Given the description of an element on the screen output the (x, y) to click on. 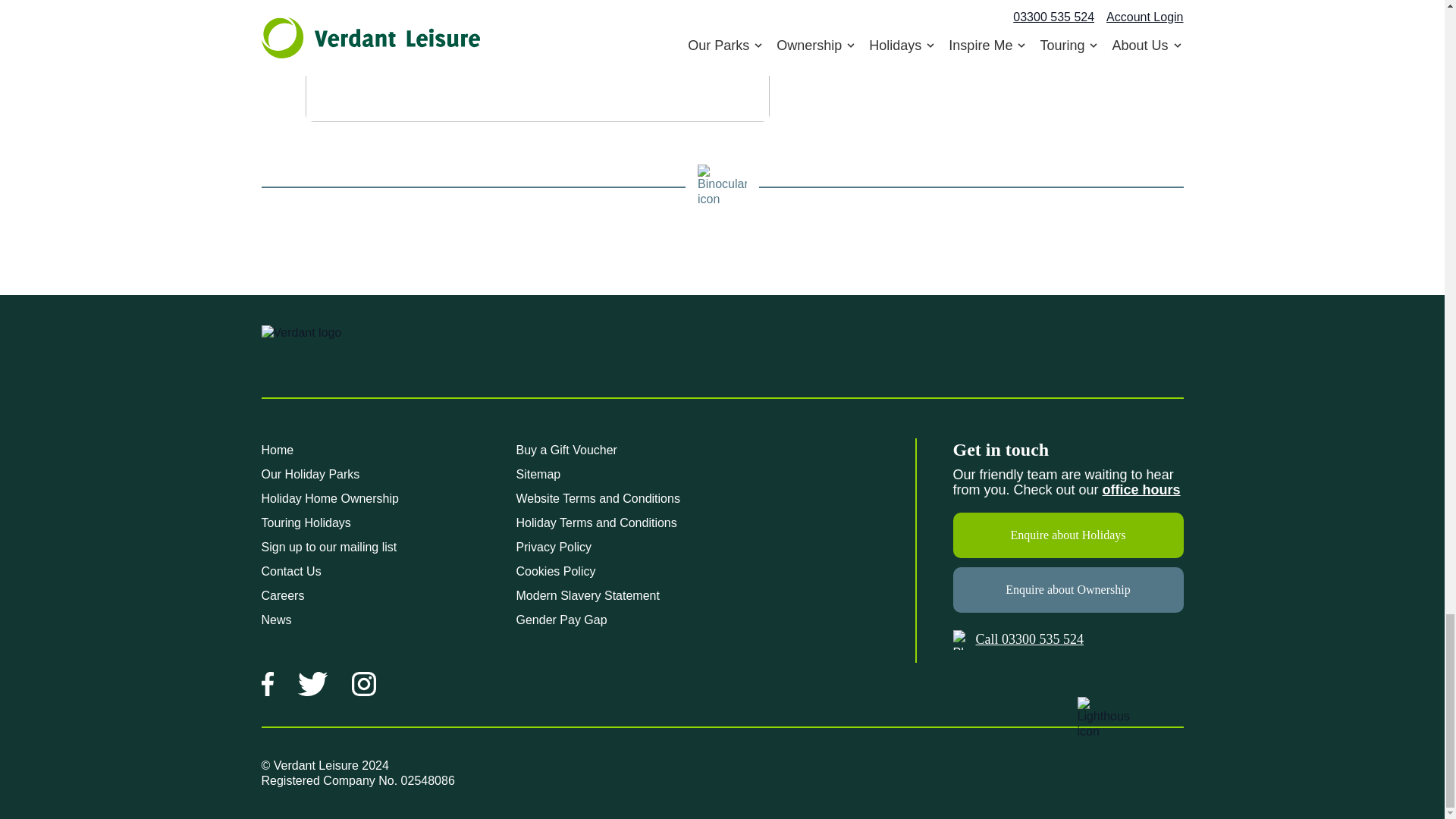
Contact Us (1141, 489)
